Given the description of an element on the screen output the (x, y) to click on. 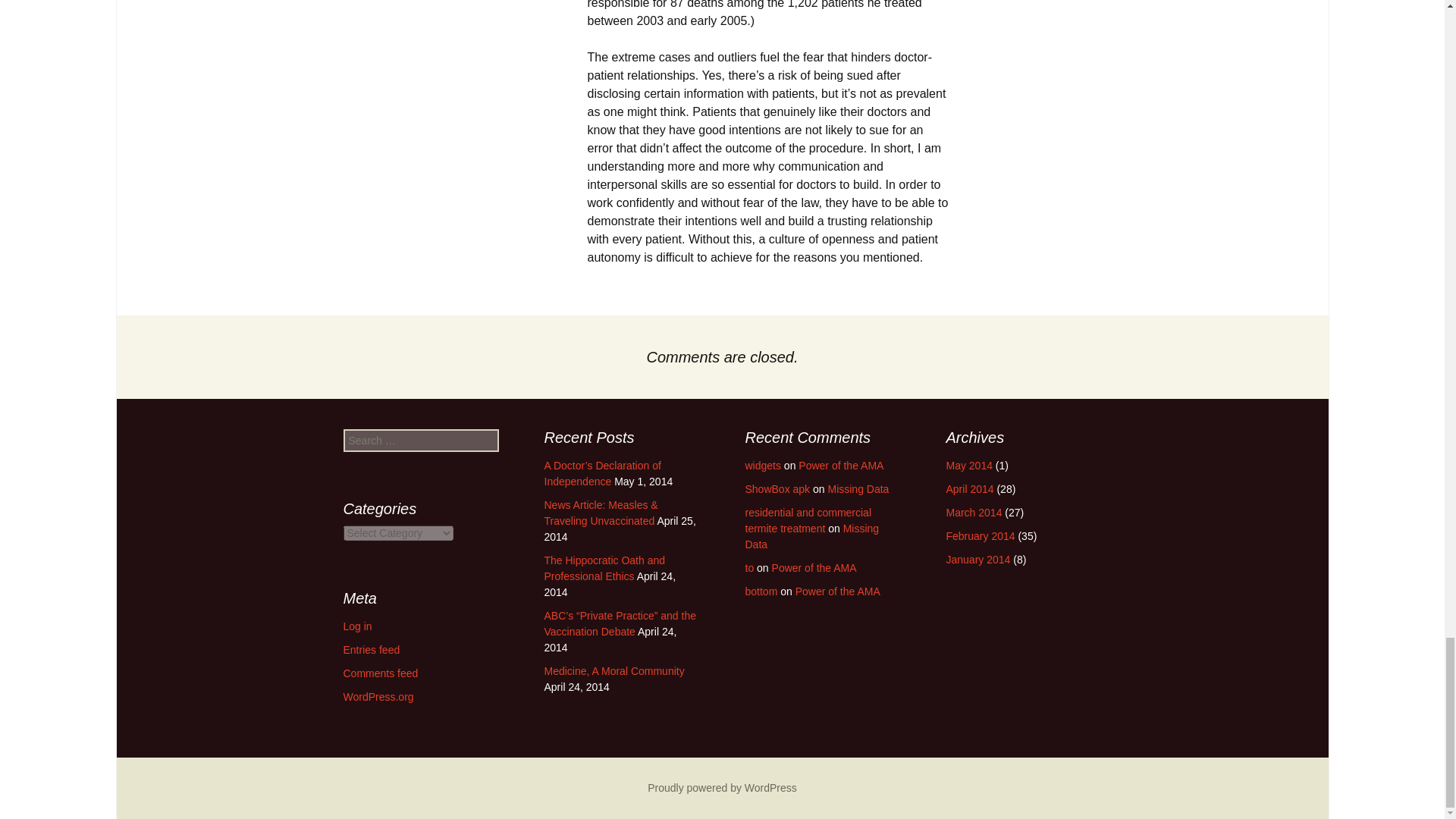
Power of the AMA (840, 465)
ShowBox apk (776, 489)
Missing Data (857, 489)
Missing Data (811, 536)
widgets (762, 465)
The Hippocratic Oath and Professional Ethics (604, 568)
Medicine, A Moral Community (614, 671)
residential and commercial termite treatment (807, 520)
